Given the description of an element on the screen output the (x, y) to click on. 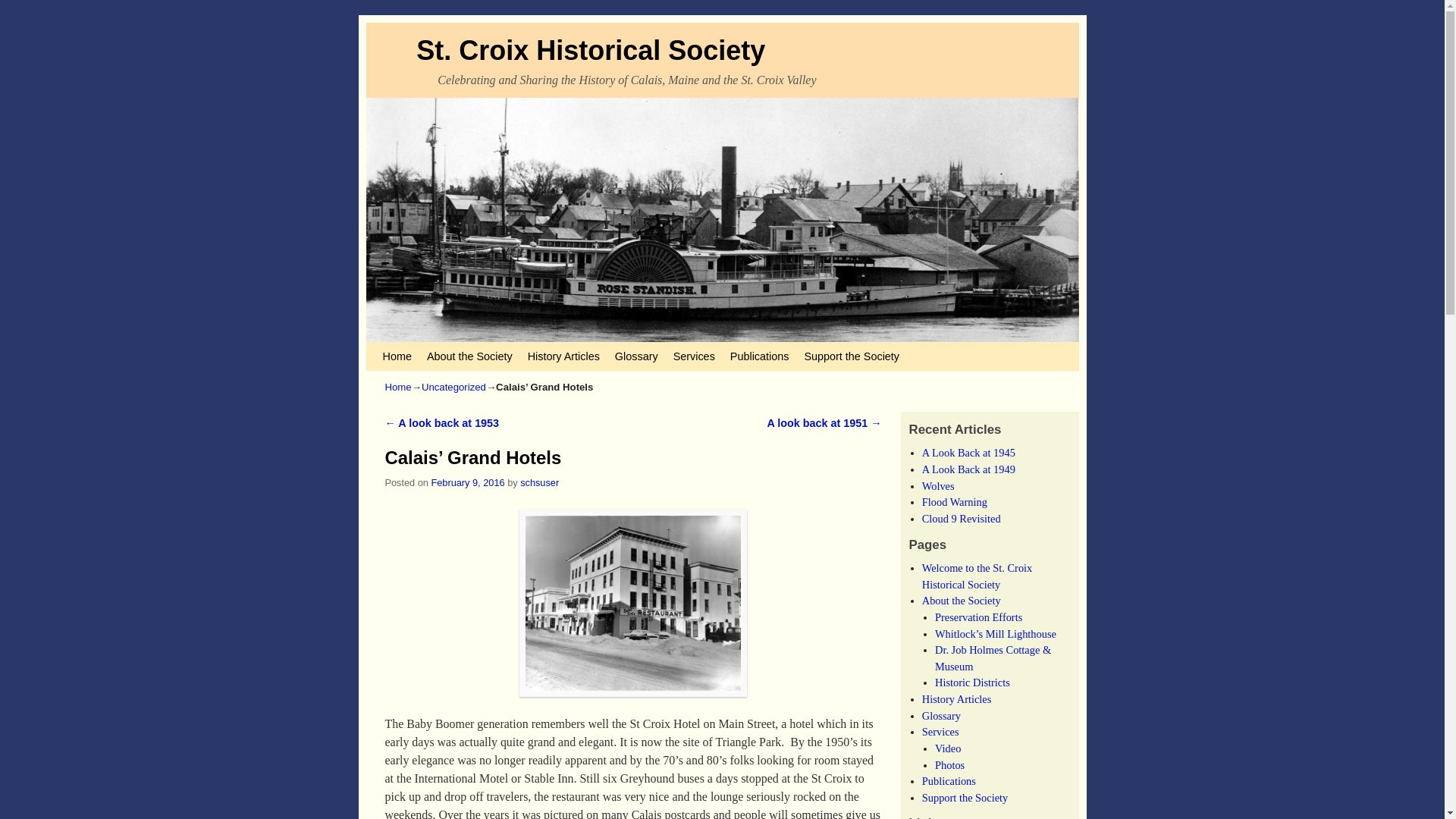
History Articles (563, 356)
Publications (759, 356)
Home (398, 387)
Glossary (636, 356)
About the Society (469, 356)
February 9, 2016 (466, 482)
12:58 pm (466, 482)
St. Croix Historical Society (590, 50)
Home (396, 356)
St. Croix Historical Society (590, 50)
Skip to secondary content (412, 348)
schsuser (539, 482)
Services (693, 356)
View all posts by schsuser (539, 482)
Support the Society (851, 356)
